Given the description of an element on the screen output the (x, y) to click on. 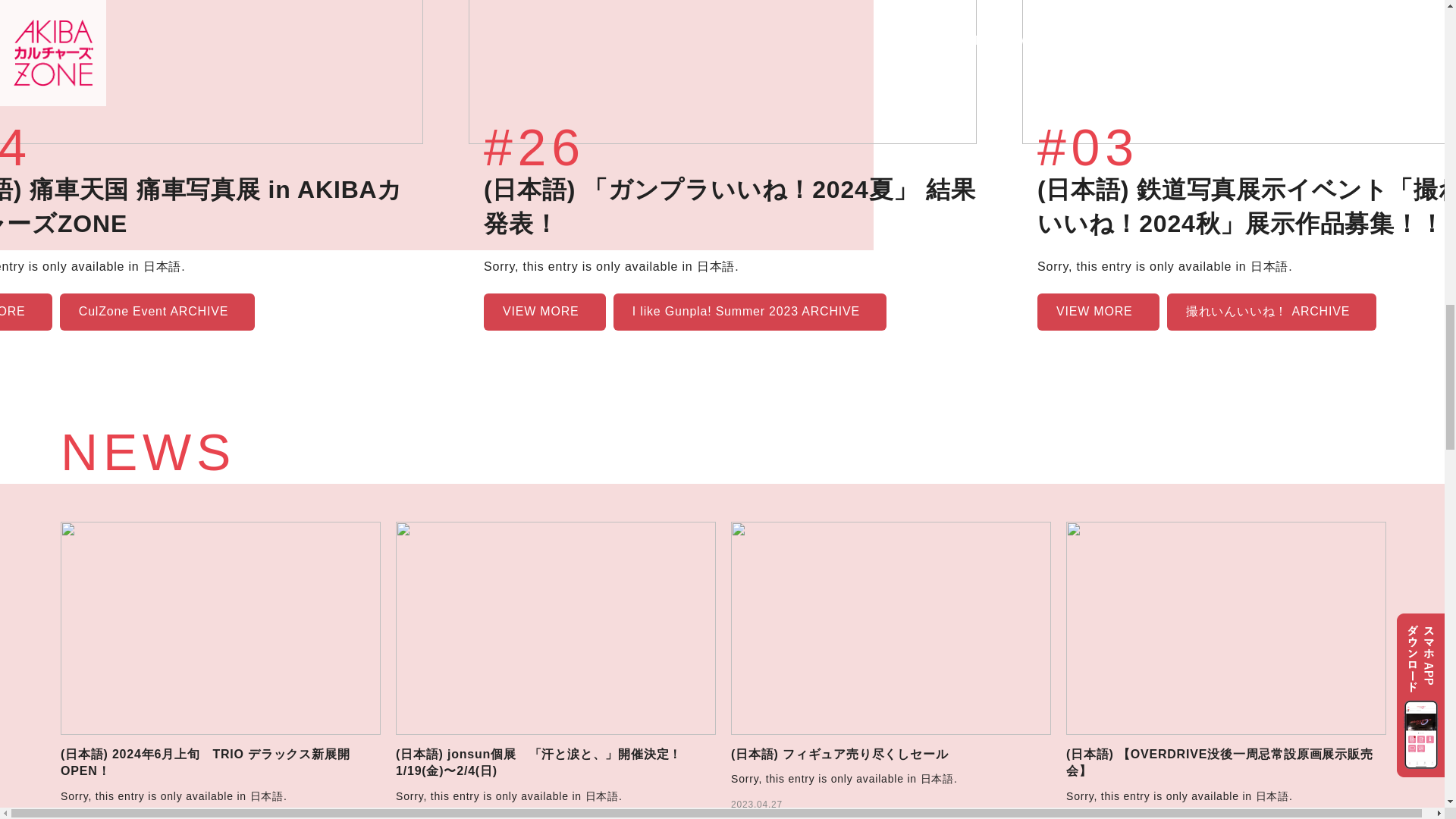
I like Gunpla! Summer 2023 ARCHIVE (749, 311)
VIEW MORE (26, 311)
VIEW MORE (544, 311)
VIEW MORE (1097, 311)
CulZone Event ARCHIVE (156, 311)
